Given the description of an element on the screen output the (x, y) to click on. 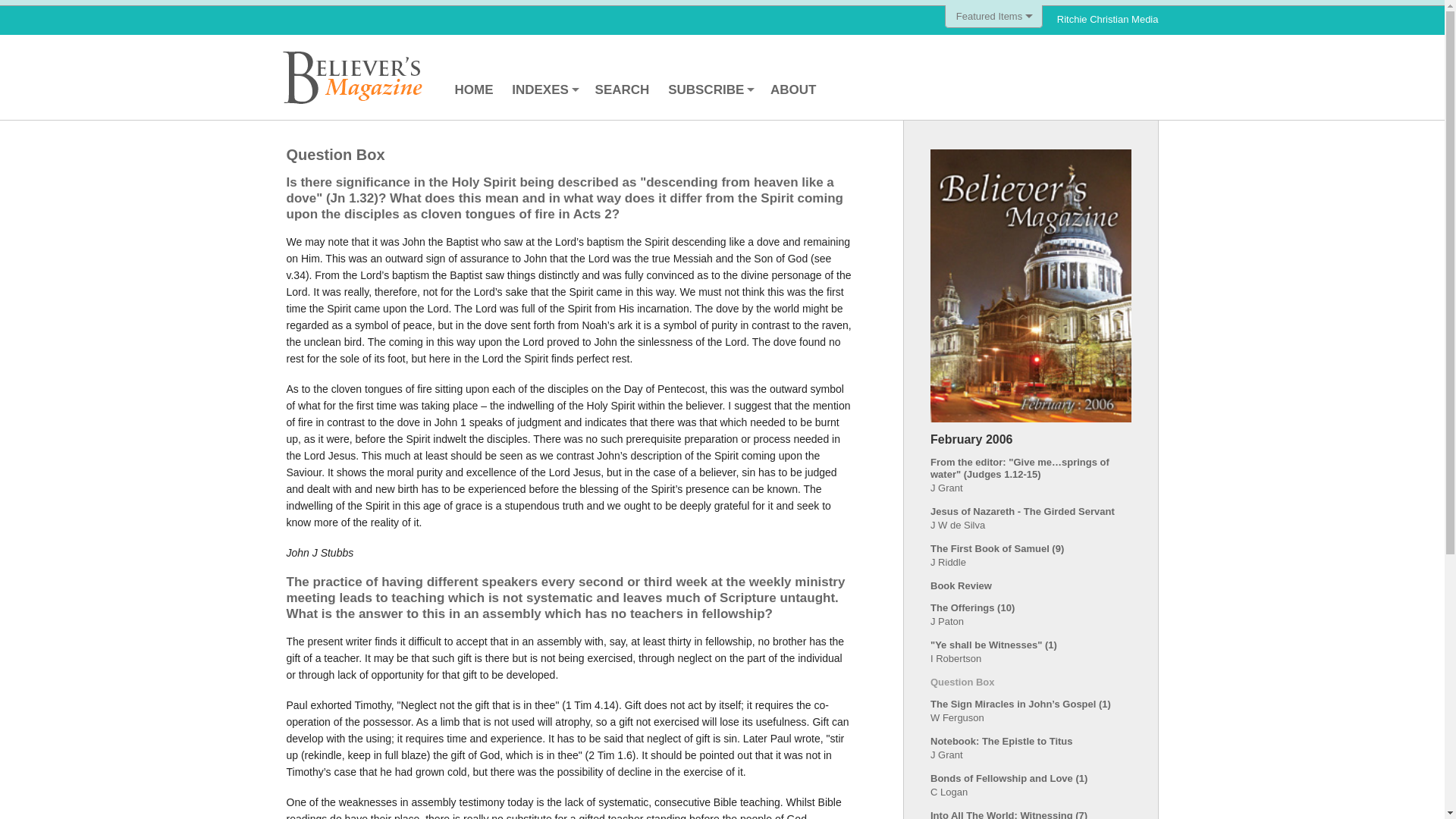
Question Box (962, 681)
Ritchie Christian Media (1107, 19)
Jesus of Nazareth - The Girded Servant (1022, 511)
Book Review (960, 585)
SEARCH (623, 89)
Notebook: The Epistle to Titus (1001, 740)
ABOUT (793, 89)
SUBSCRIBE (709, 89)
HOME (473, 89)
INDEXES (543, 89)
